Given the description of an element on the screen output the (x, y) to click on. 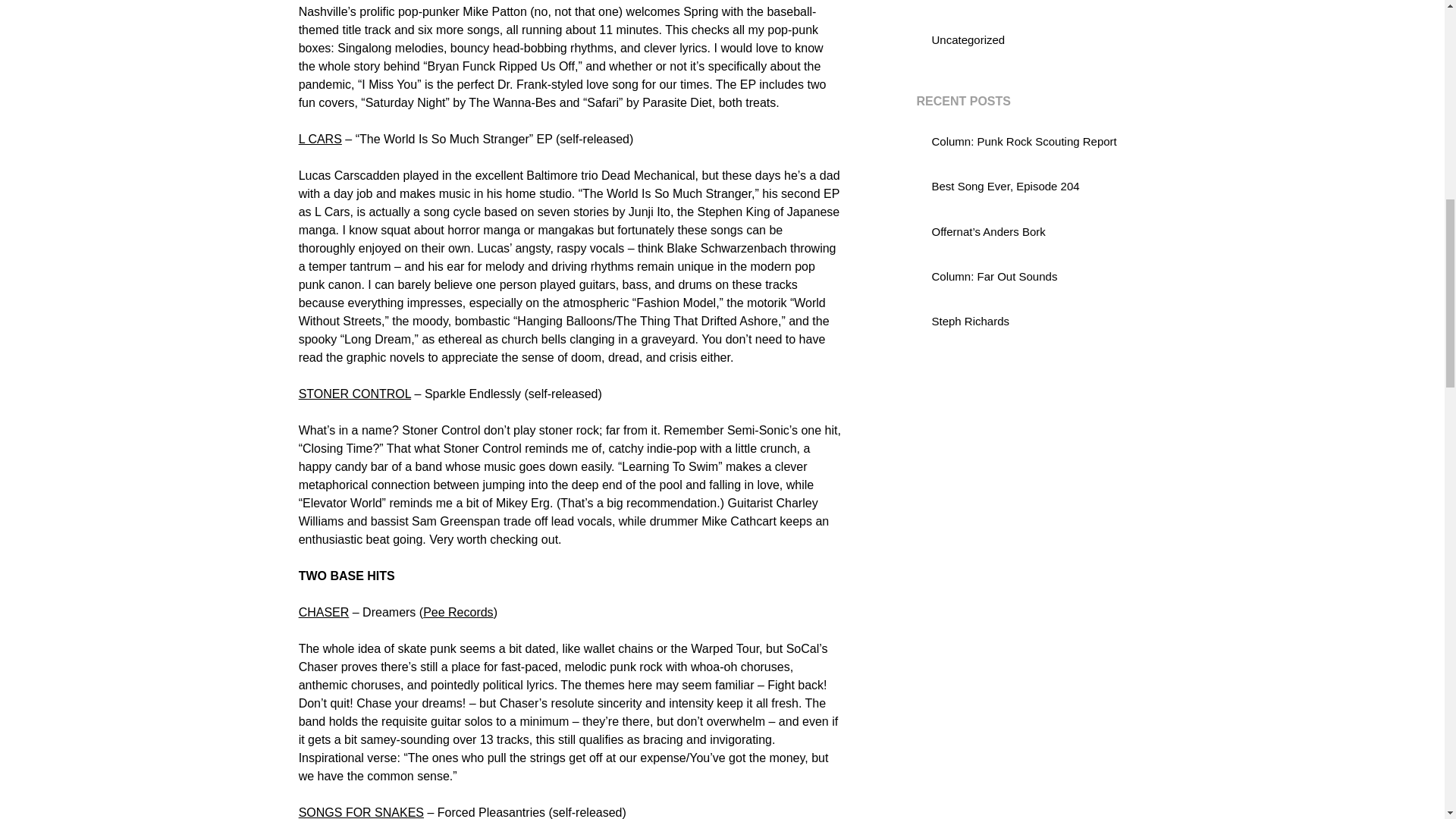
L CARS (320, 138)
SONGS FOR SNAKES (360, 812)
CHASER (323, 612)
STONER CONTROL (354, 393)
Pee Records (458, 612)
